Given the description of an element on the screen output the (x, y) to click on. 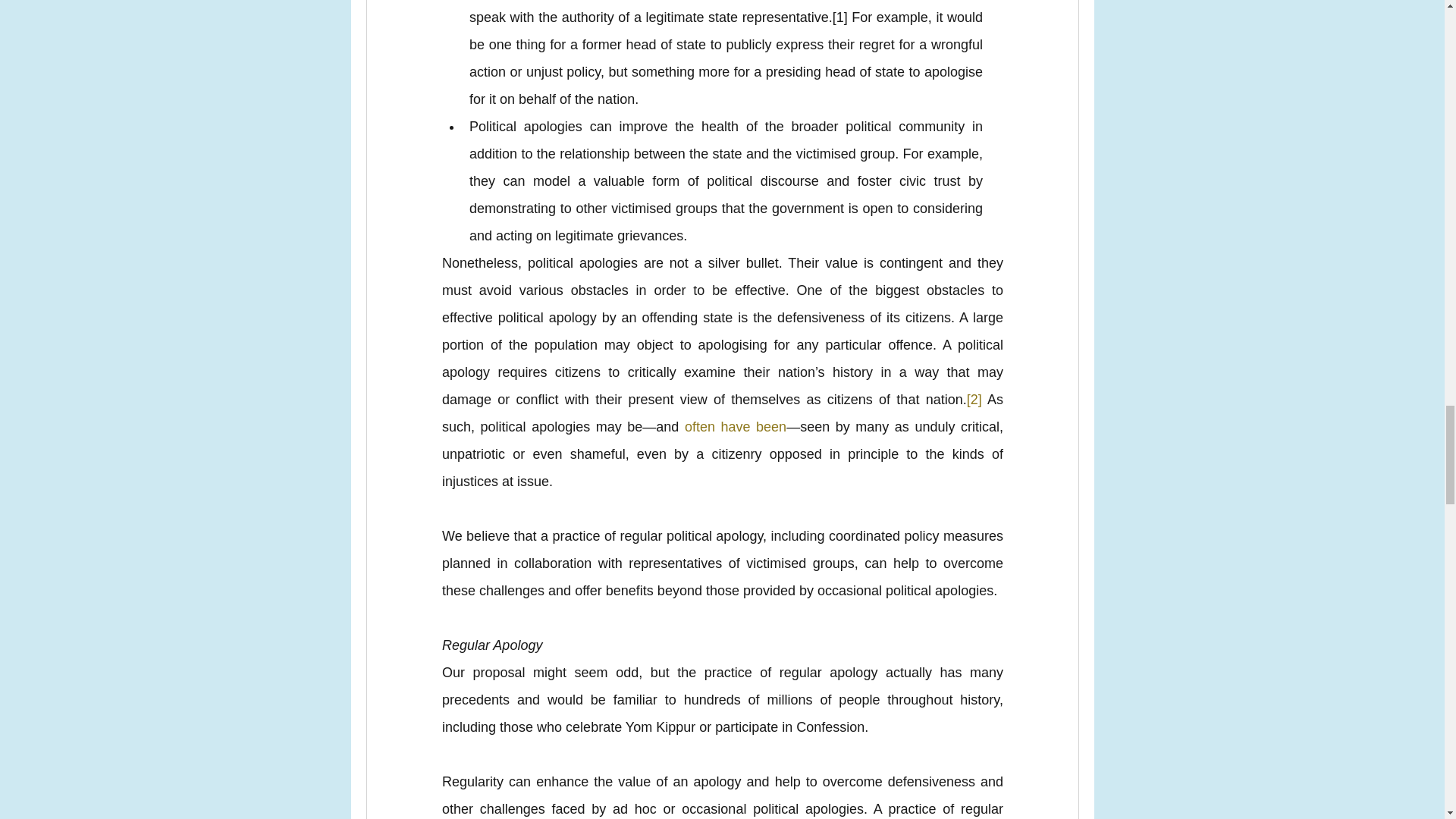
often have been (735, 426)
